Given the description of an element on the screen output the (x, y) to click on. 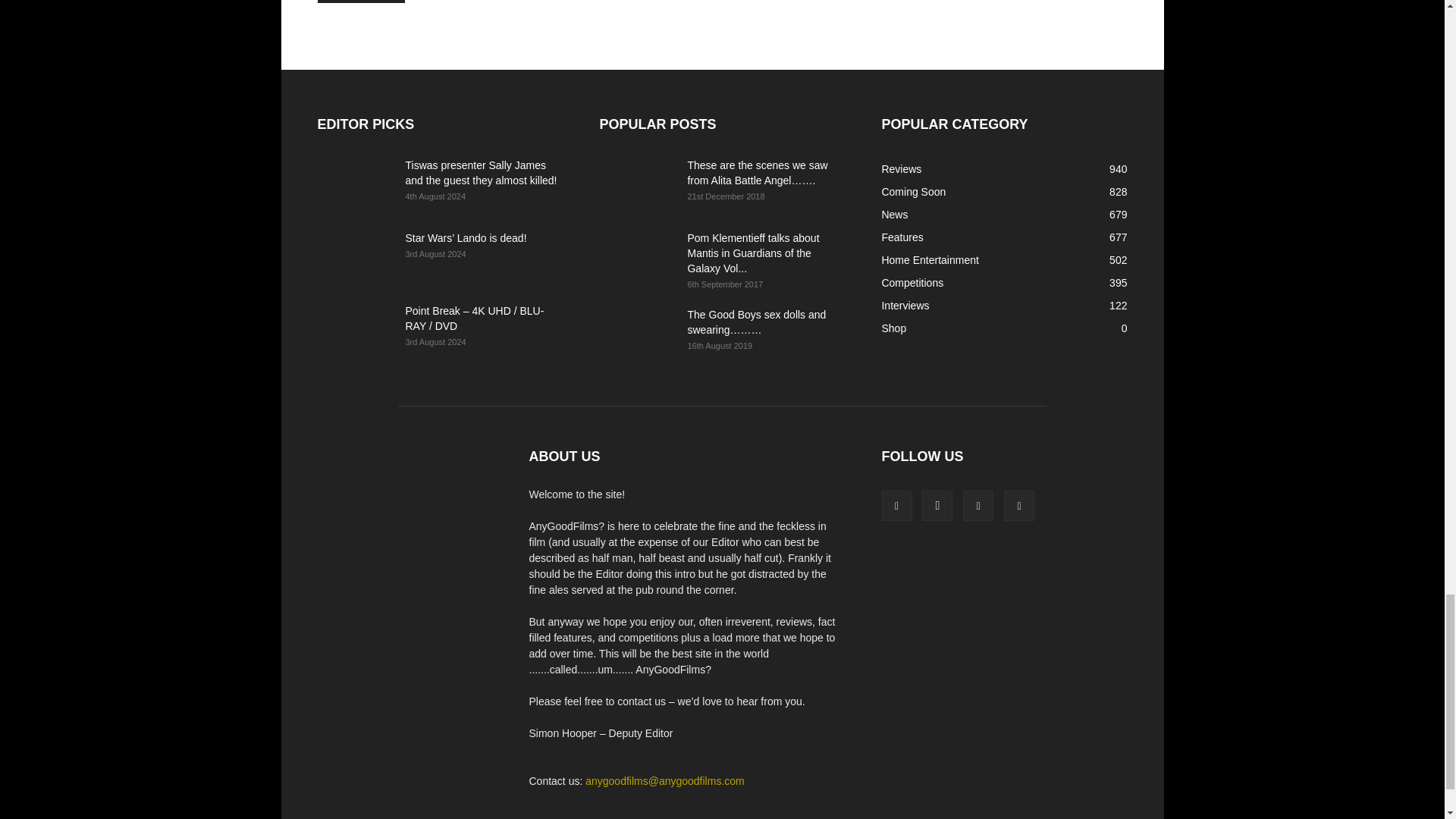
Post Comment (360, 1)
